Given the description of an element on the screen output the (x, y) to click on. 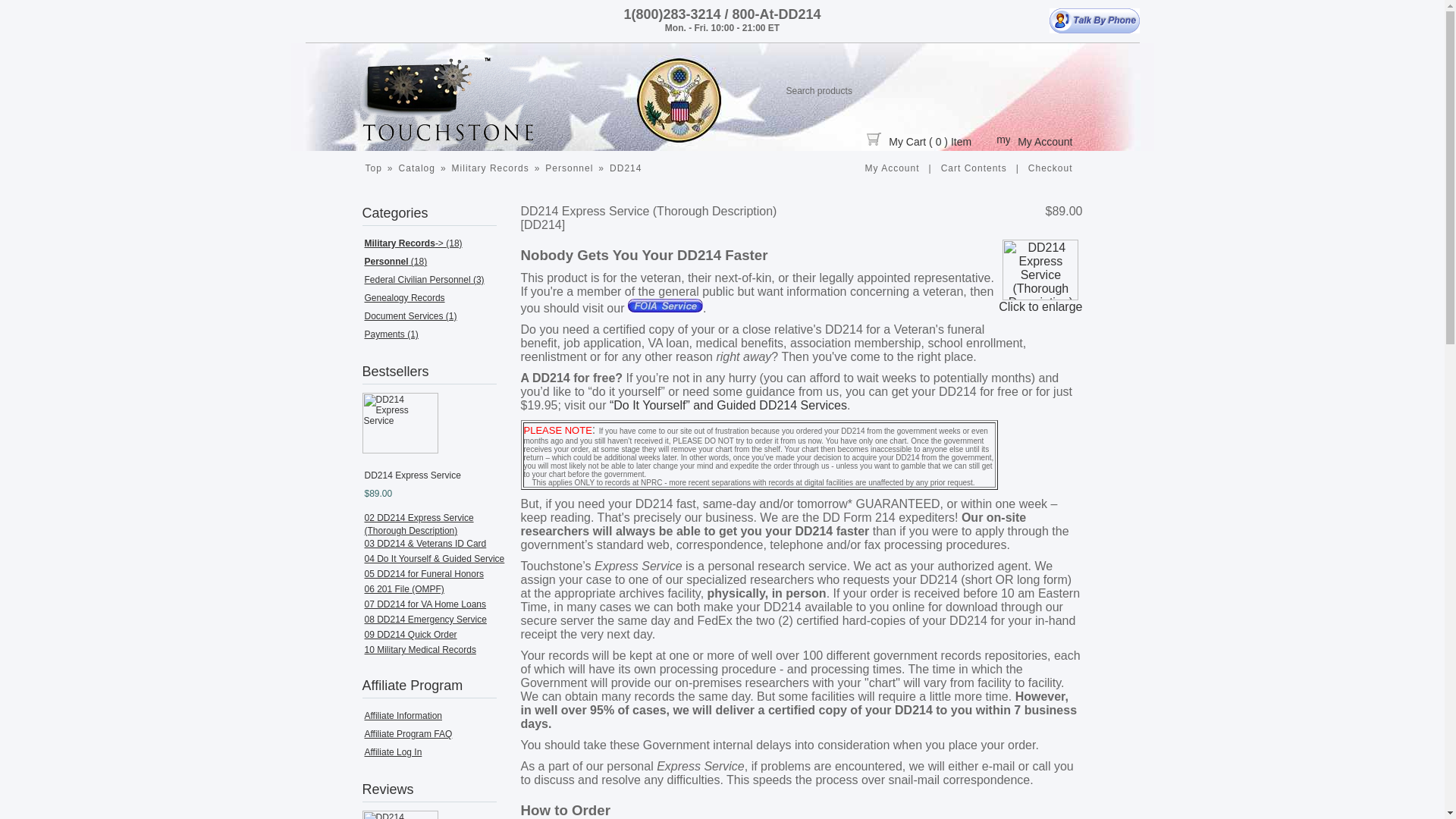
Top (373, 168)
Affiliate Log In (393, 751)
DD214 (625, 168)
Cart Contents (973, 168)
Military Records (490, 168)
Checkout (1050, 168)
Genealogy Records (404, 297)
My Account (891, 168)
 DD214 Express Service  (400, 423)
Personnel (569, 168)
